Given the description of an element on the screen output the (x, y) to click on. 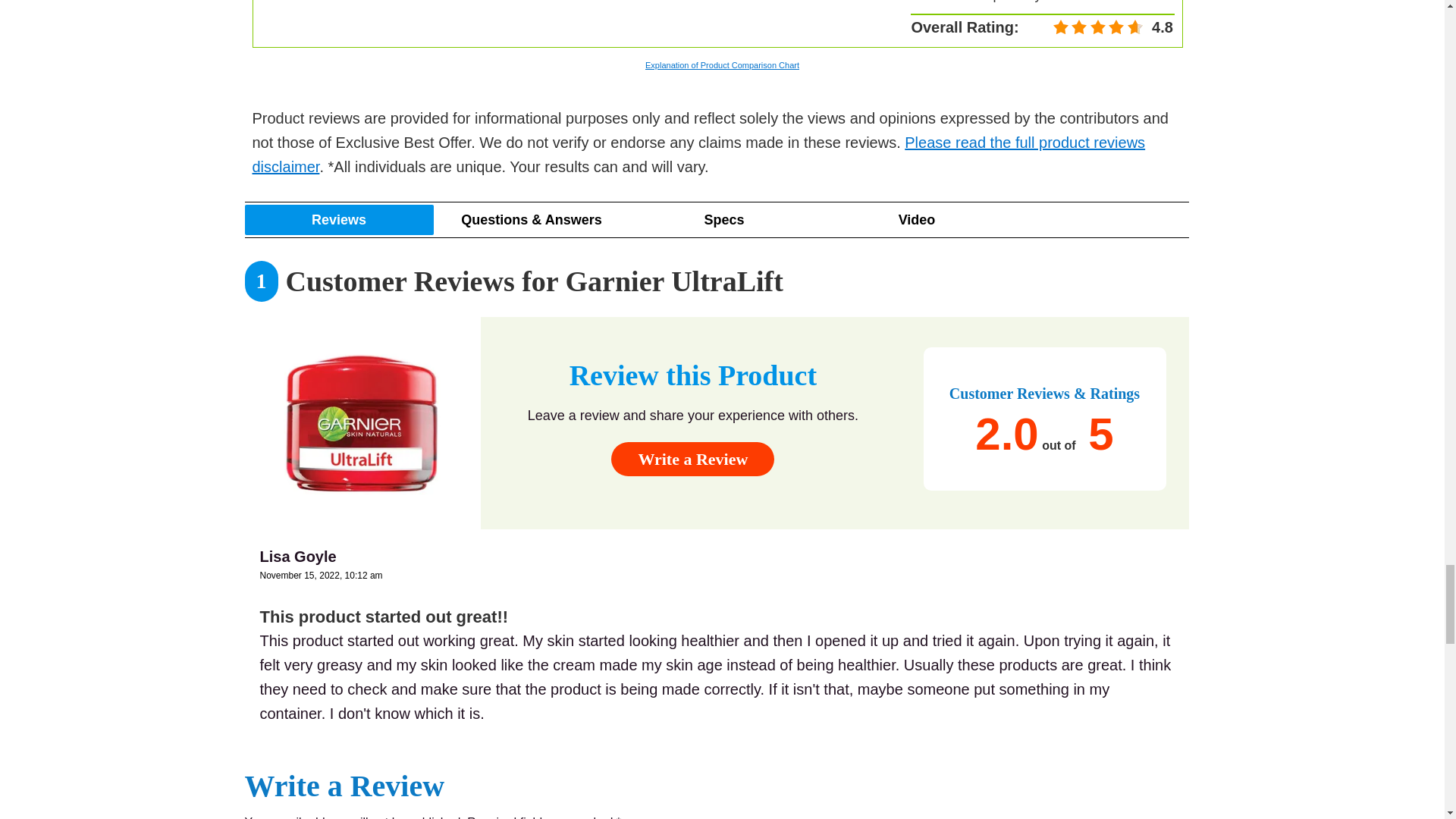
Please read the full product reviews disclaimer (697, 154)
